Given the description of an element on the screen output the (x, y) to click on. 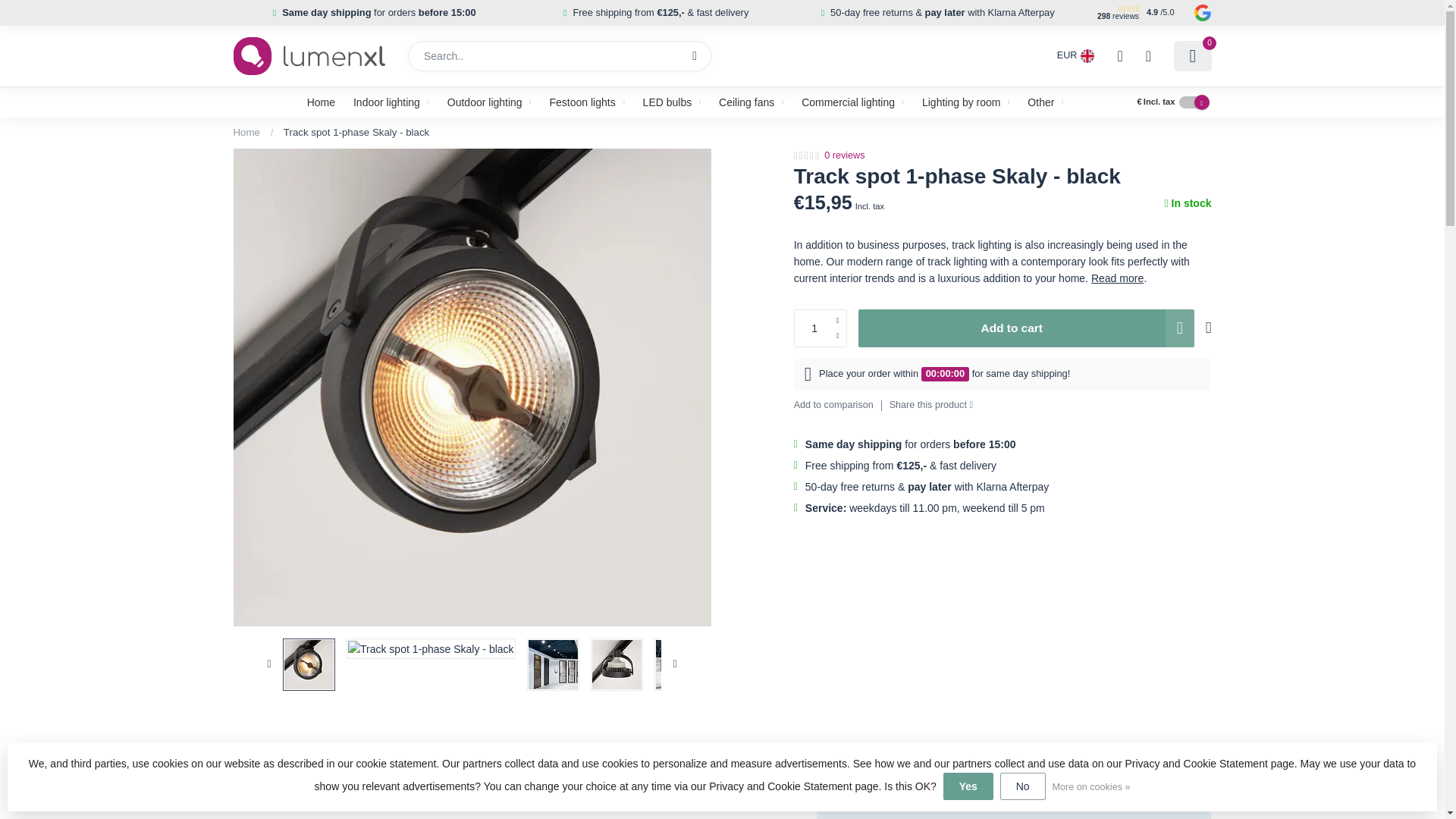
Home (320, 101)
0 (1192, 55)
1 (820, 328)
Home (246, 132)
Indoor lighting (391, 101)
